Given the description of an element on the screen output the (x, y) to click on. 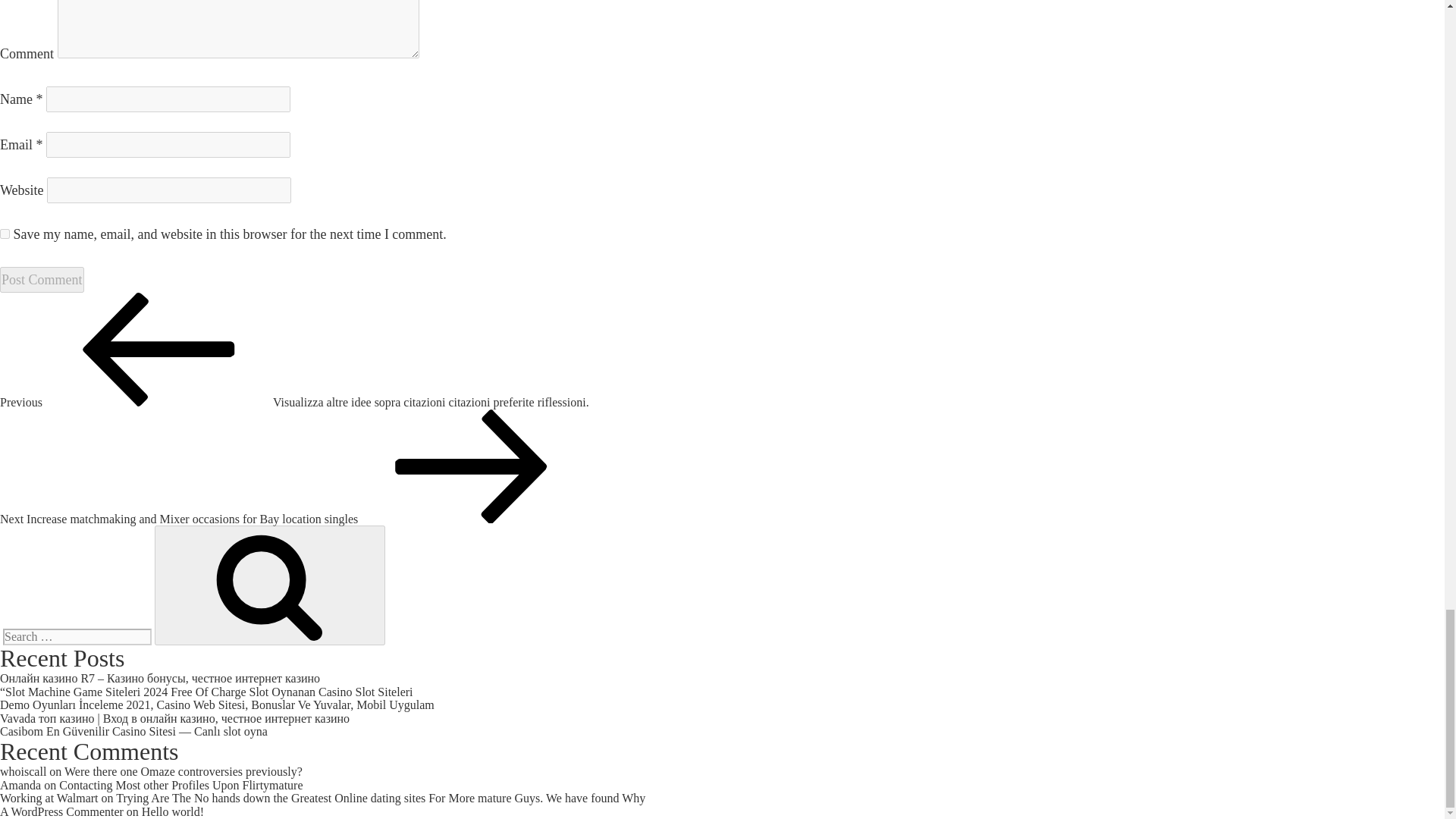
Amanda (20, 784)
A WordPress Commenter (61, 811)
Were there one Omaze controversies previously? (183, 771)
Working at Walmart (49, 797)
Contacting Most other Profiles Upon Flirtymature (180, 784)
yes (5, 234)
Post Comment (42, 279)
Post Comment (42, 279)
Search (269, 585)
Hello world! (172, 811)
whoiscall (23, 771)
